Given the description of an element on the screen output the (x, y) to click on. 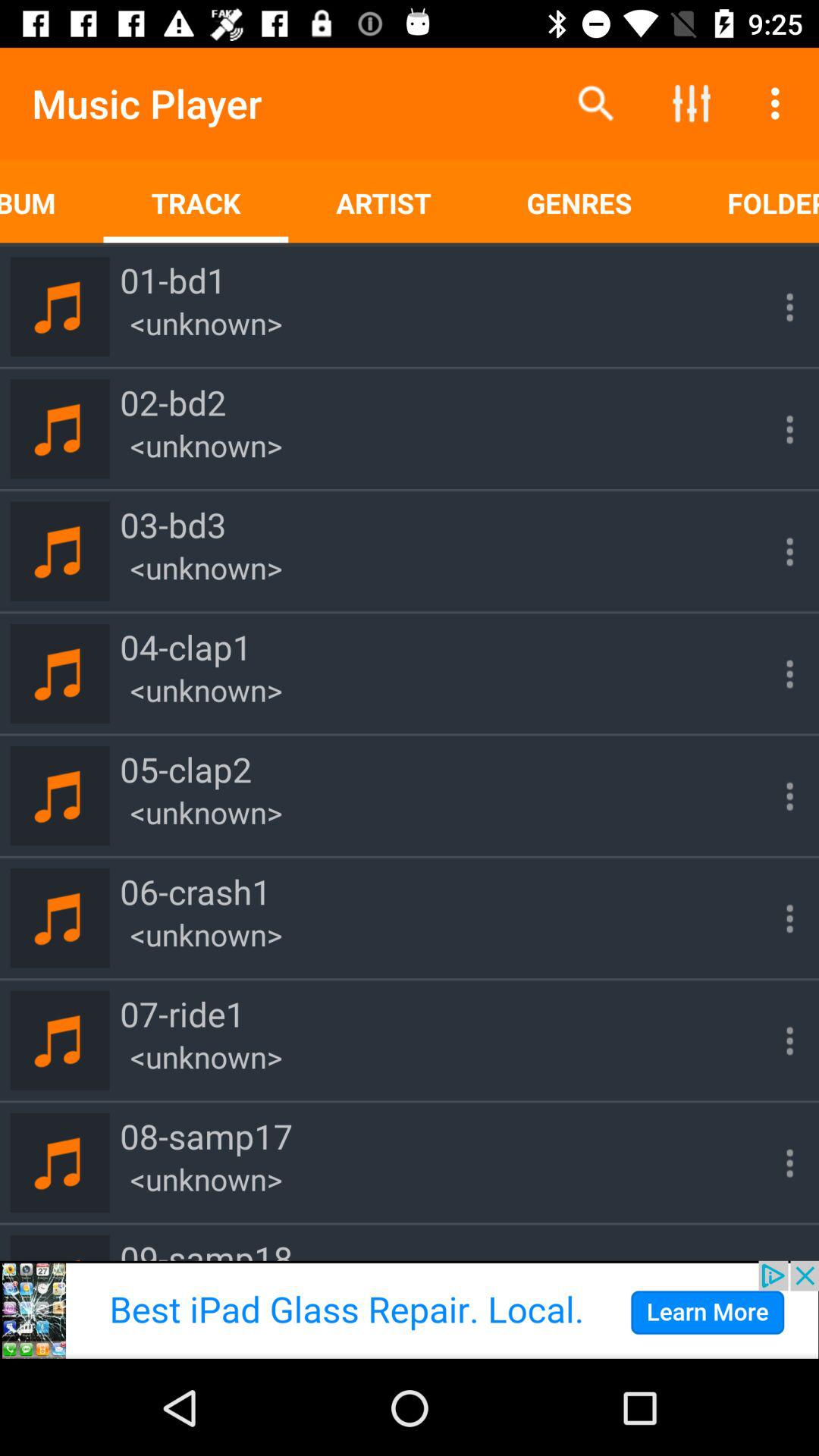
click icon in 2nd track (775, 428)
click on three dots which is beside 07ride1 (775, 1040)
go to genres  (579, 202)
